Given the description of an element on the screen output the (x, y) to click on. 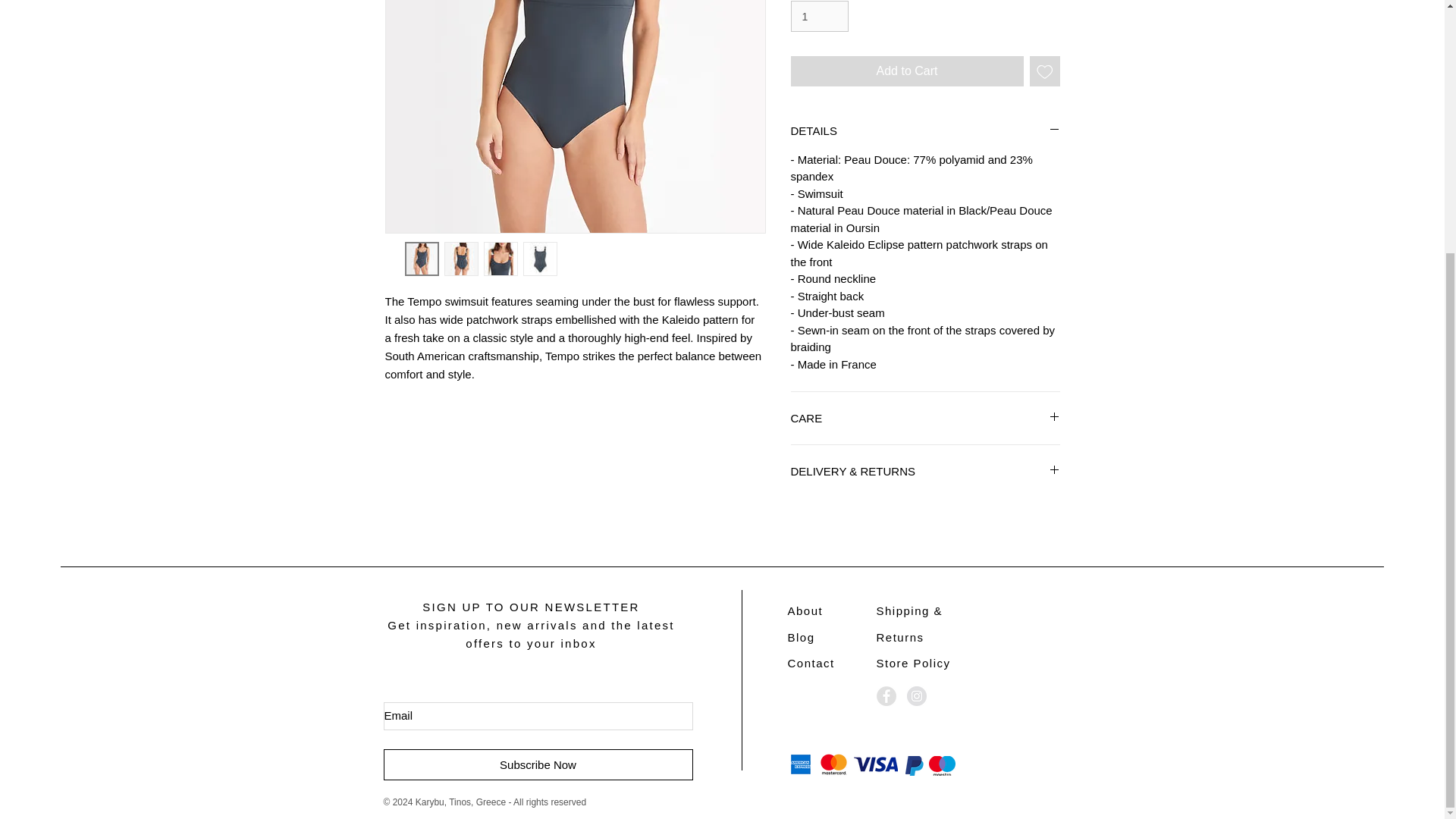
Store Policy (913, 662)
download-hd-mastercard-logo-vector-maste (941, 765)
Visa-Logo.png (875, 764)
CARE (924, 417)
Contact (810, 662)
About (804, 610)
Wix Chat (35, 425)
Add to Cart (906, 71)
Subscribe Now (538, 763)
DETAILS (924, 130)
